Given the description of an element on the screen output the (x, y) to click on. 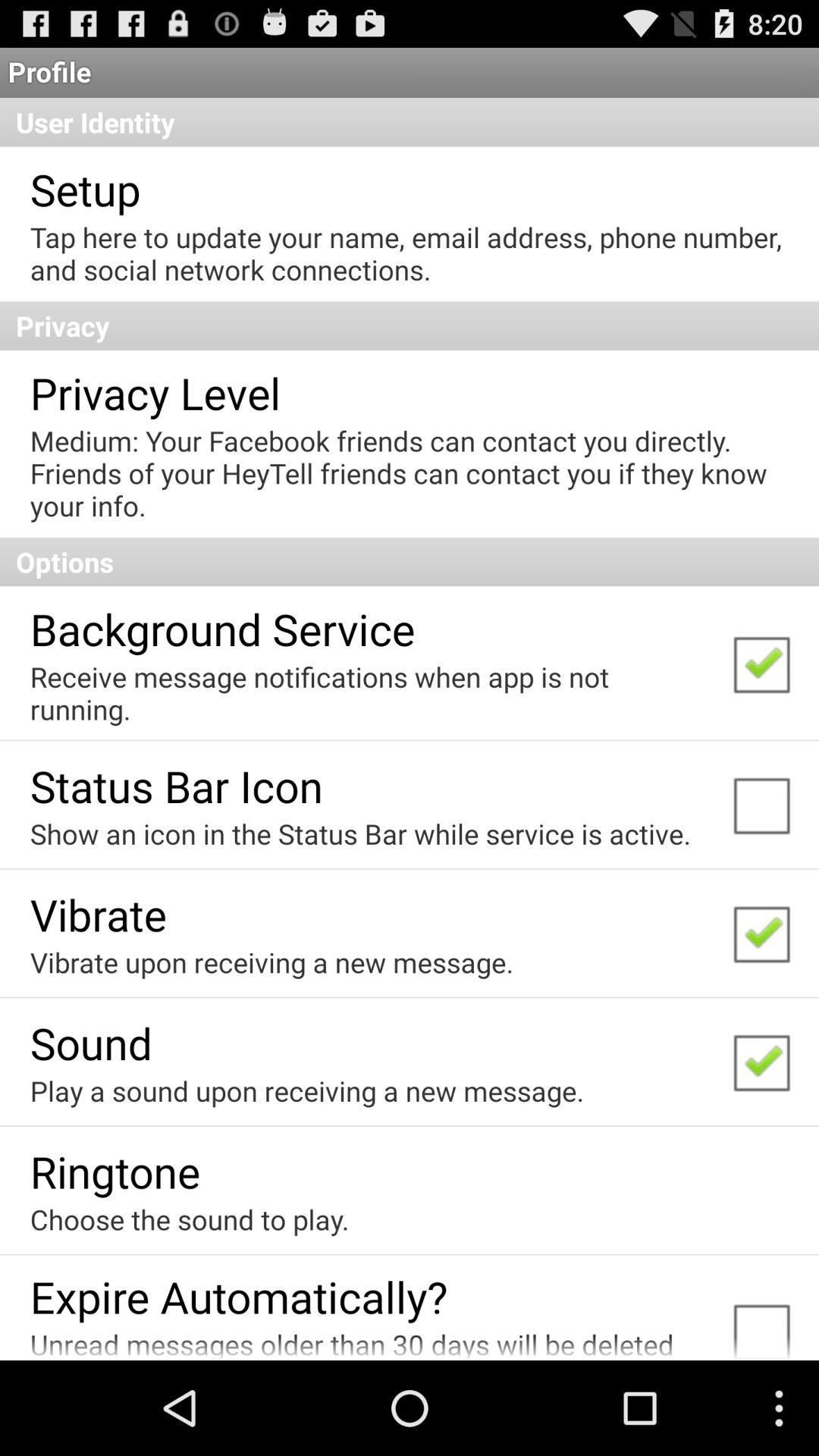
turn off show an icon icon (360, 833)
